Given the description of an element on the screen output the (x, y) to click on. 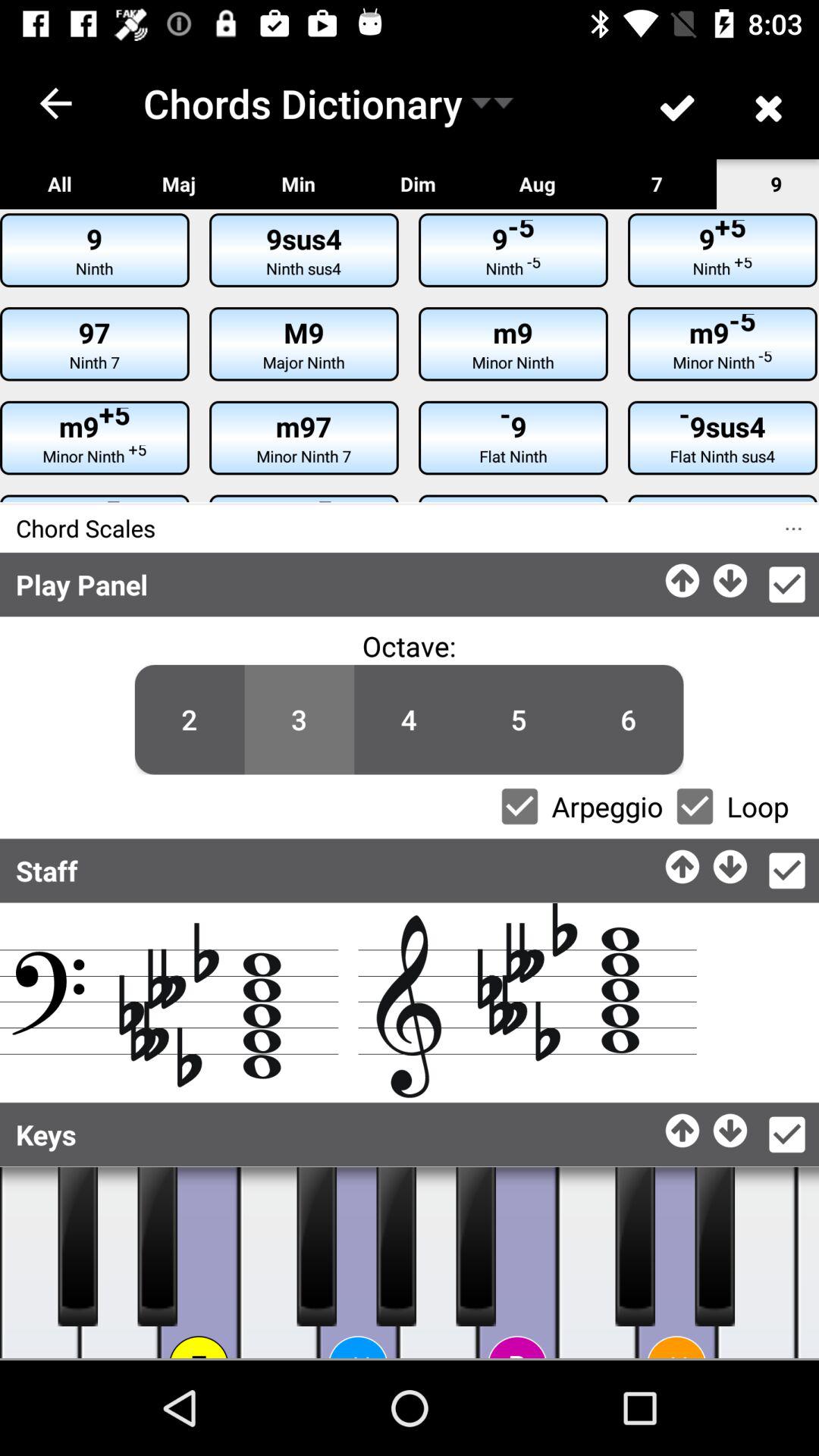
click to down option (731, 1126)
